Given the description of an element on the screen output the (x, y) to click on. 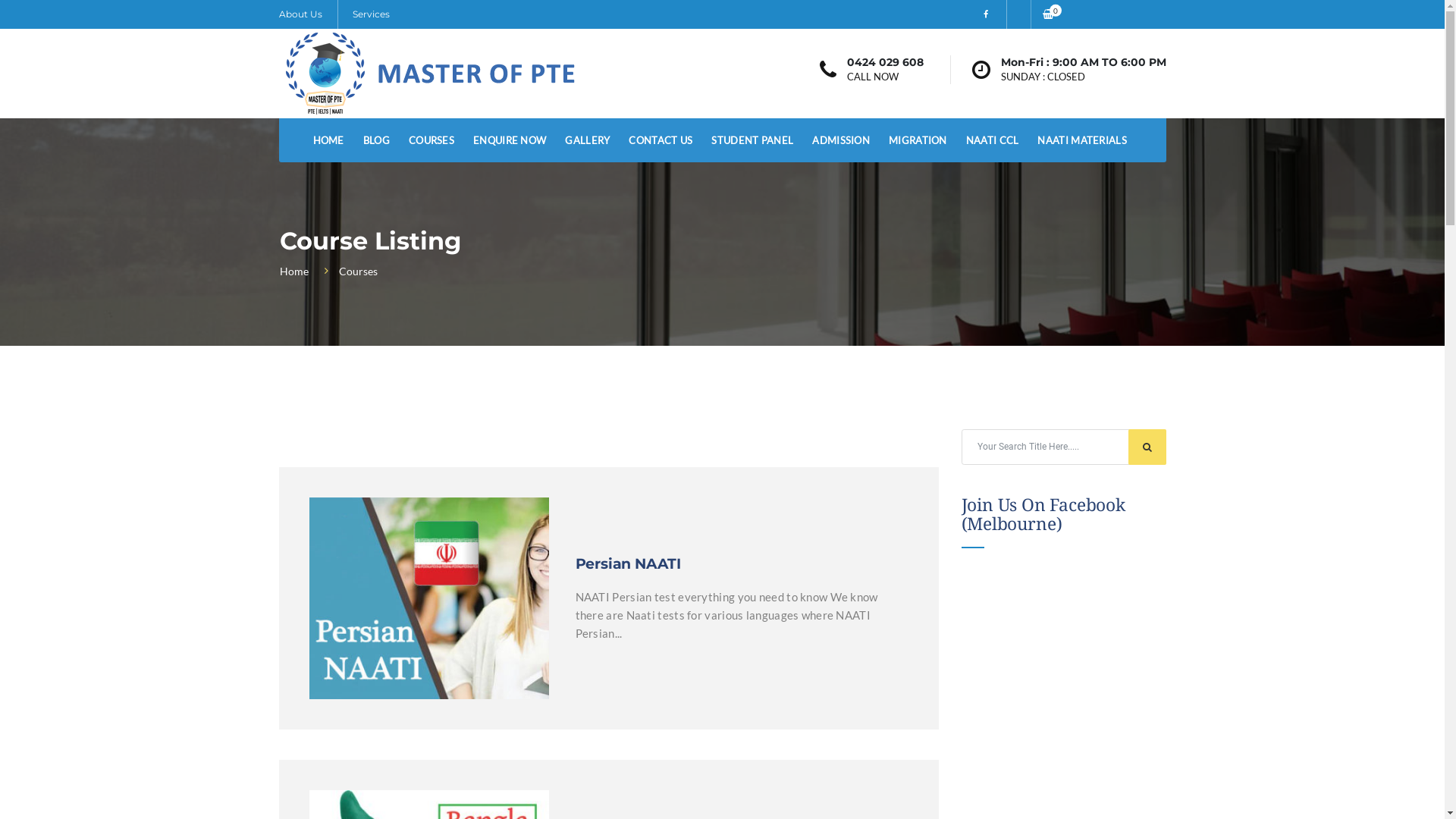
MIGRATION Element type: text (917, 140)
CONTACT US Element type: text (660, 140)
NAATI MATERIALS Element type: text (1081, 140)
Master of PTE Element type: hover (434, 72)
Services Element type: text (370, 13)
Persian NAATI Element type: text (627, 563)
GALLERY Element type: text (586, 140)
About Us Element type: text (300, 13)
HOME Element type: text (327, 140)
ADMISSION Element type: text (840, 140)
Home   Element type: text (296, 269)
COURSES Element type: text (431, 140)
ENQUIRE NOW Element type: text (509, 140)
NAATI CCL Element type: text (992, 140)
BLOG Element type: text (376, 140)
STUDENT PANEL Element type: text (752, 140)
